Given the description of an element on the screen output the (x, y) to click on. 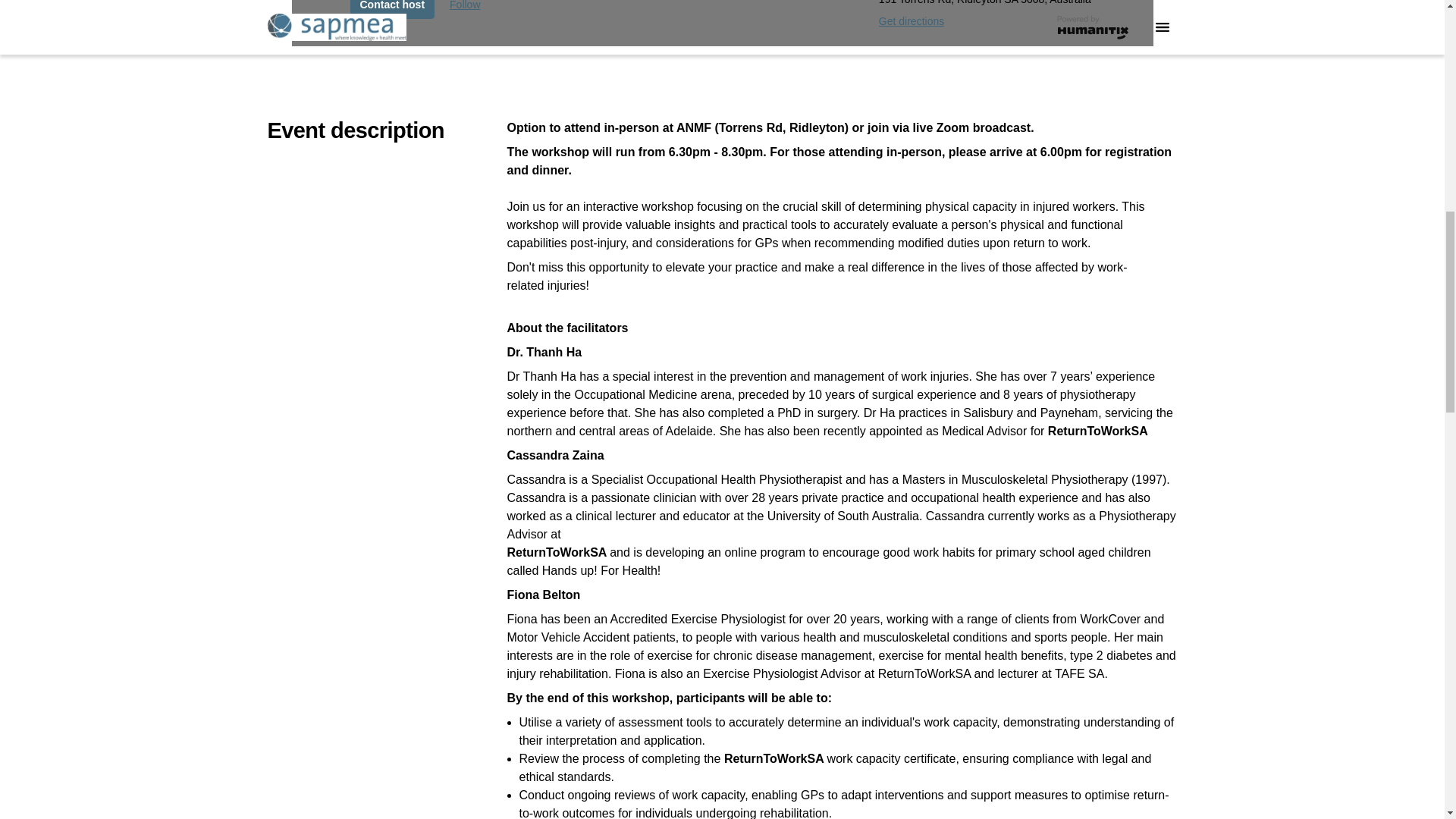
Follow (465, 9)
Get directions (911, 21)
